Given the description of an element on the screen output the (x, y) to click on. 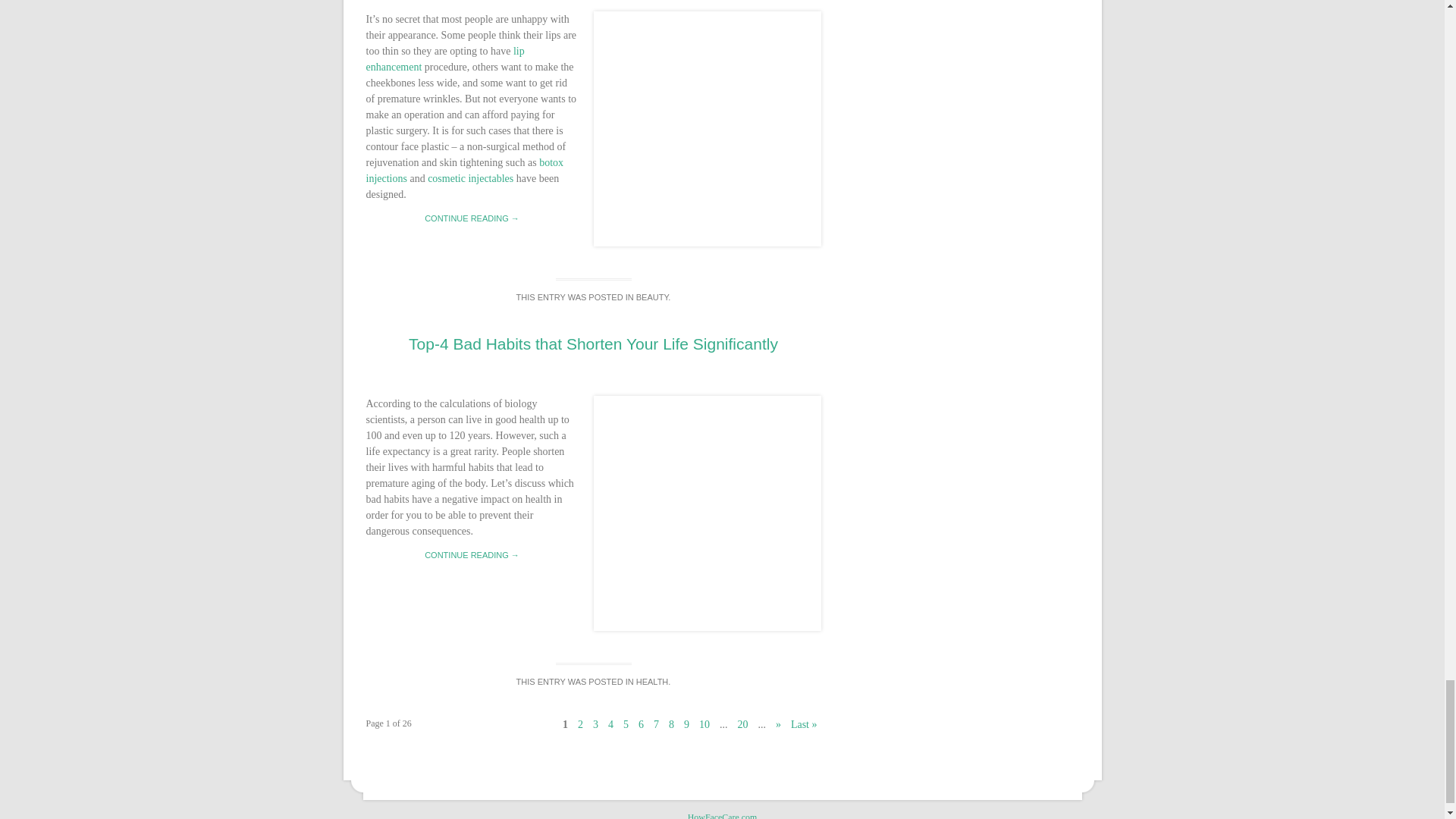
Page 10 (704, 724)
Page 4 (610, 724)
Page 6 (640, 724)
Page 9 (686, 724)
Page 20 (742, 724)
Page 3 (595, 724)
Page 2 (579, 724)
Page 8 (671, 724)
Page 7 (655, 724)
Page 5 (625, 724)
